Given the description of an element on the screen output the (x, y) to click on. 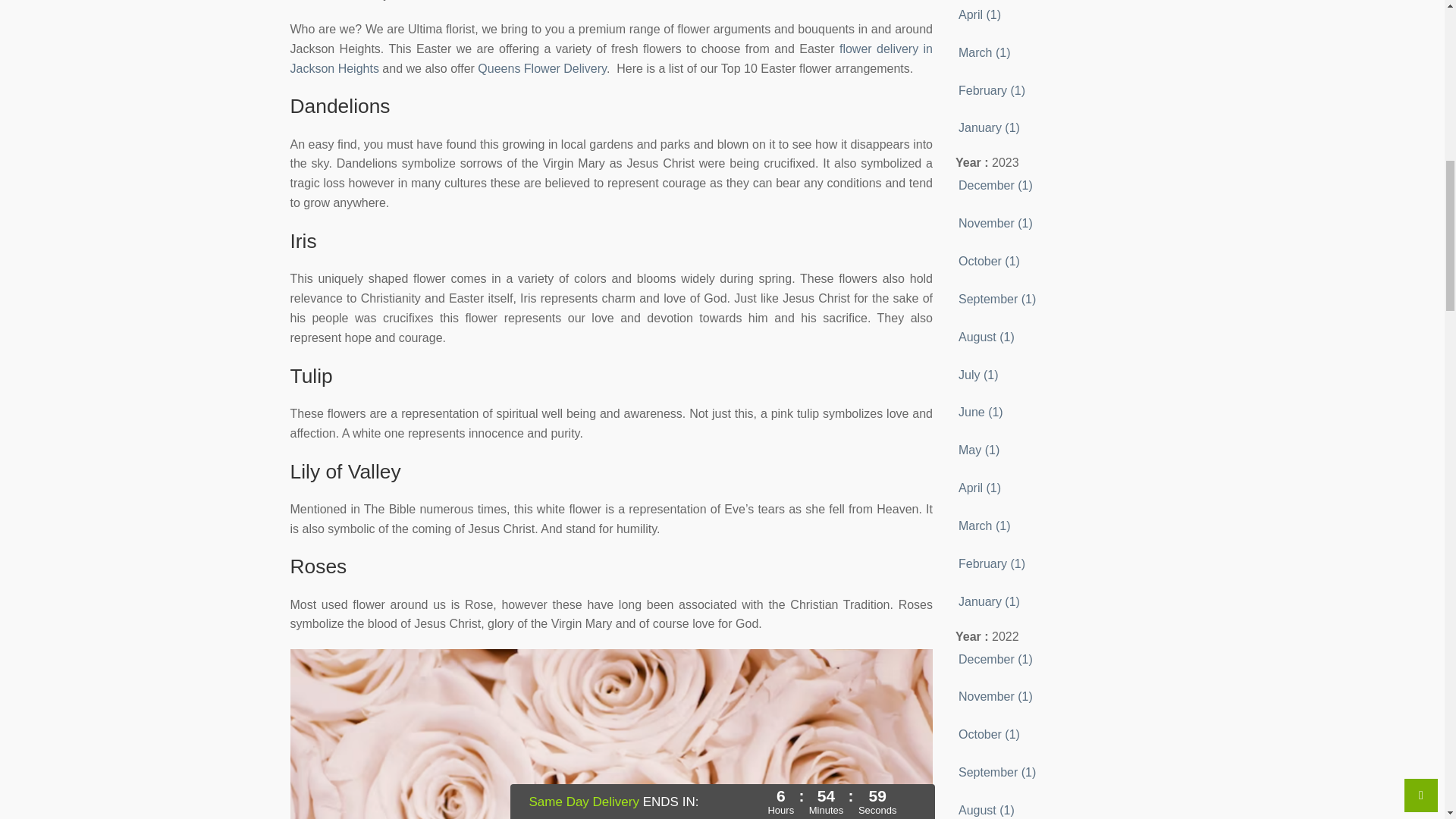
flower delivery in Jackson Heights (611, 58)
Queens Flower Delivery (542, 68)
